Given the description of an element on the screen output the (x, y) to click on. 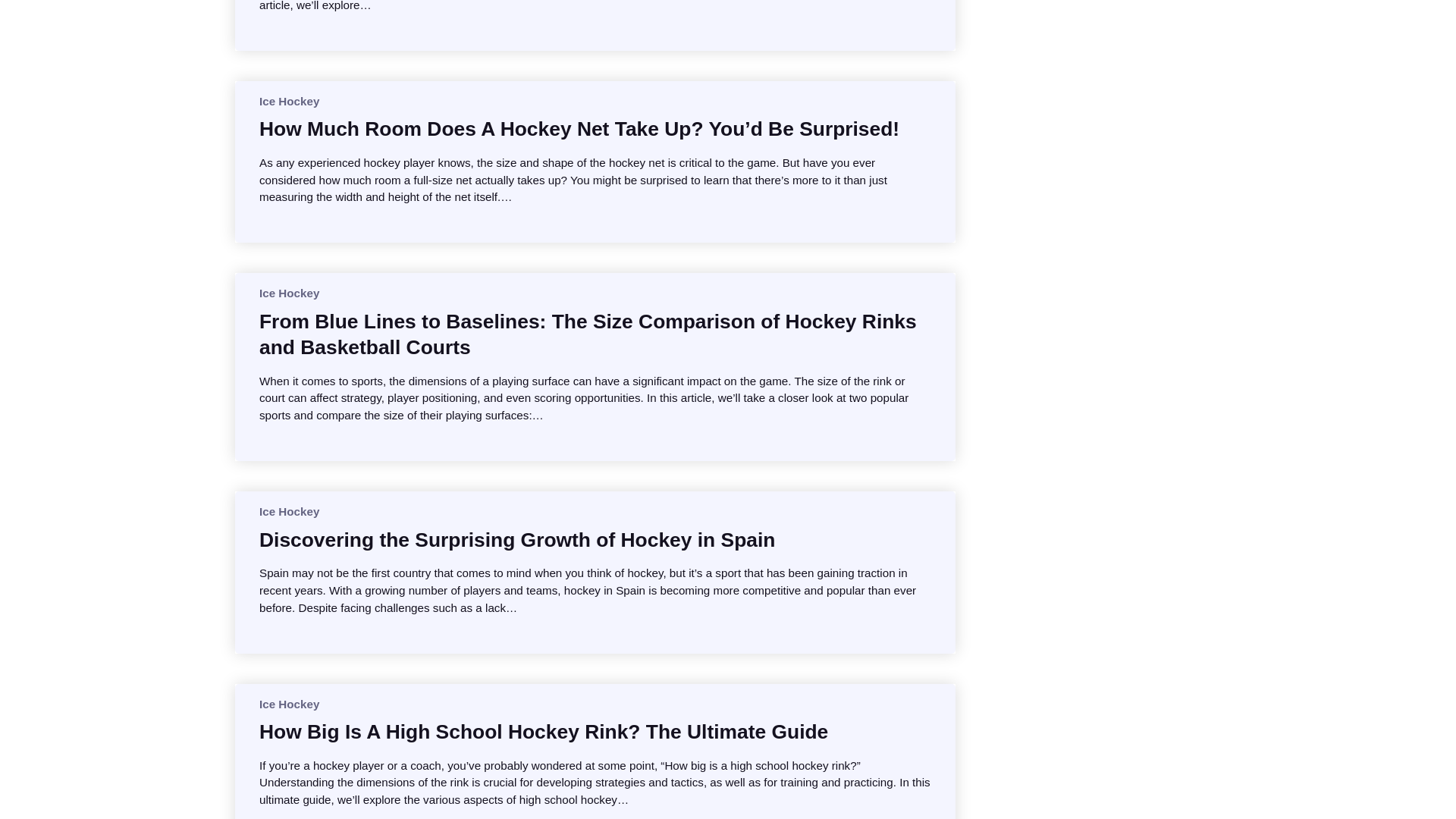
Discovering the Surprising Growth of Hockey in Spain (516, 539)
Ice Hockey (288, 703)
Ice Hockey (288, 292)
Ice Hockey (288, 511)
Ice Hockey (288, 101)
How Big Is A High School Hockey Rink? The Ultimate Guide (543, 731)
